Given the description of an element on the screen output the (x, y) to click on. 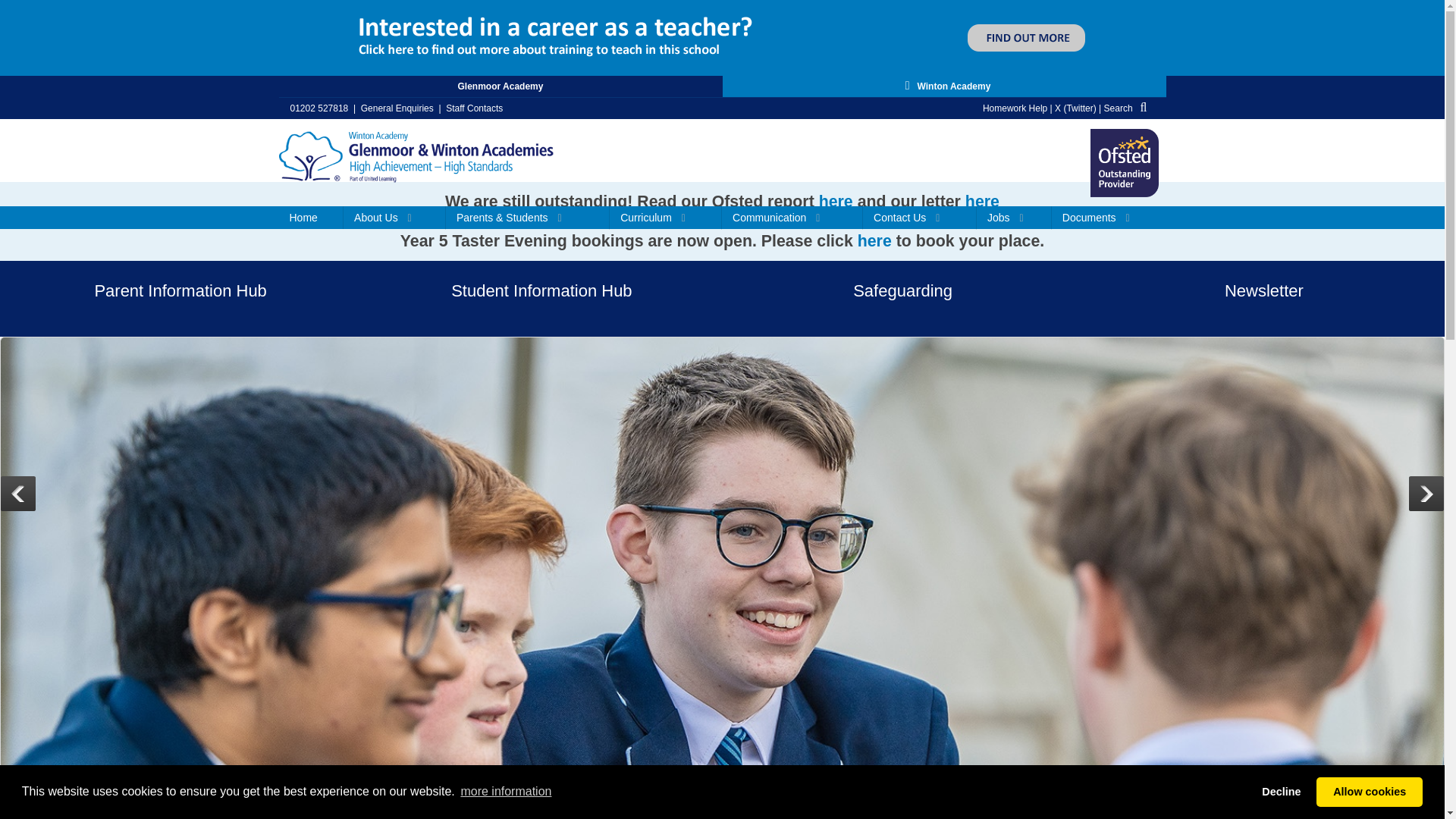
Glenmoor Academy (500, 86)
Decline (1281, 791)
Home (311, 217)
Winton Academy (417, 153)
01202 527818 (318, 108)
Allow cookies (1369, 791)
Previous (17, 493)
more information (505, 791)
Homework Help (1014, 108)
Next (1426, 493)
Curriculum (666, 218)
Search (1128, 108)
About Us (394, 218)
General Enquiries (397, 108)
Staff Contacts (473, 108)
